Given the description of an element on the screen output the (x, y) to click on. 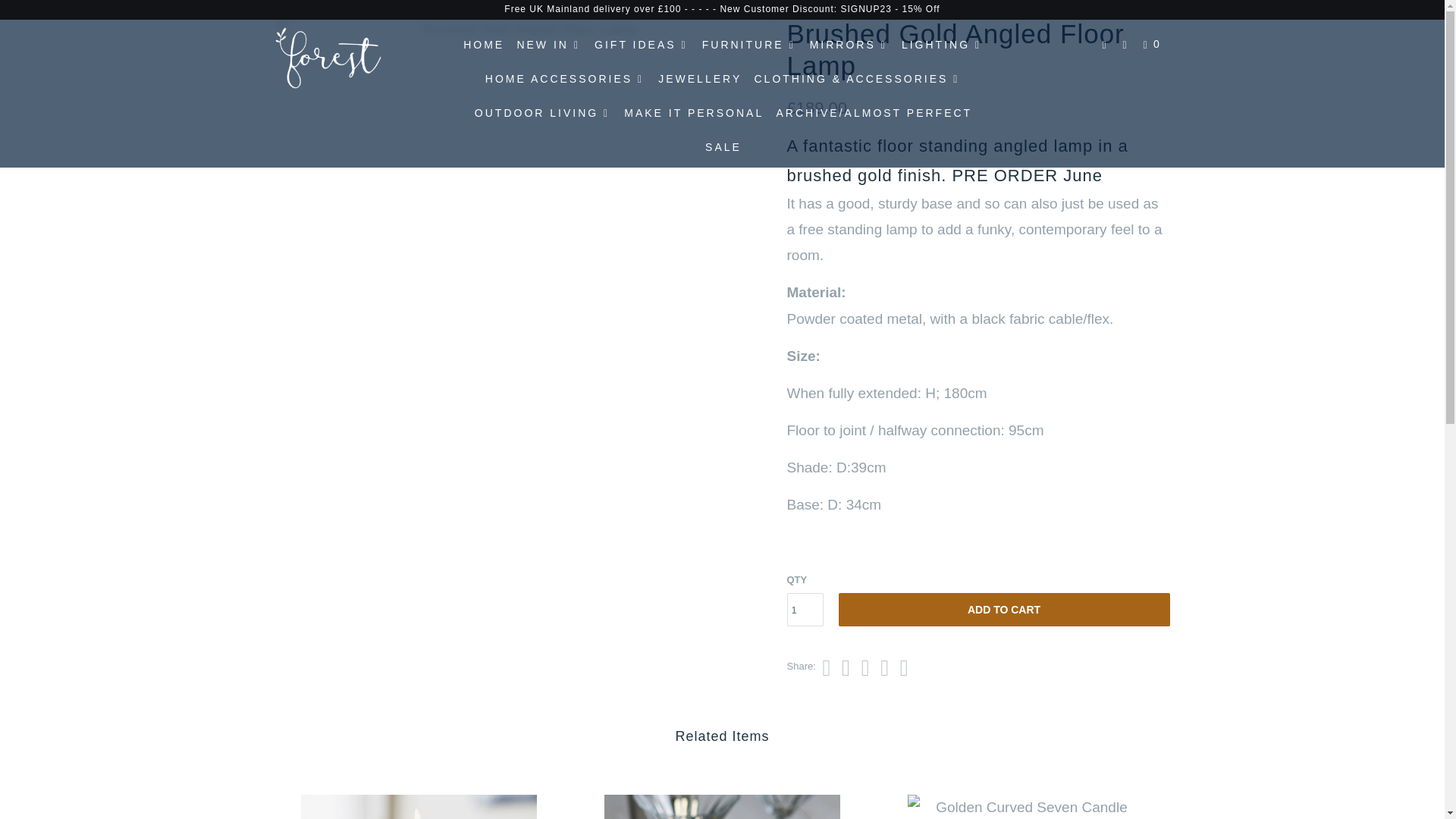
Brushed Gold Angled Floor Lamp (523, 28)
1 (805, 609)
Brushed Gold Angled Floor Lamp (137, 28)
